Given the description of an element on the screen output the (x, y) to click on. 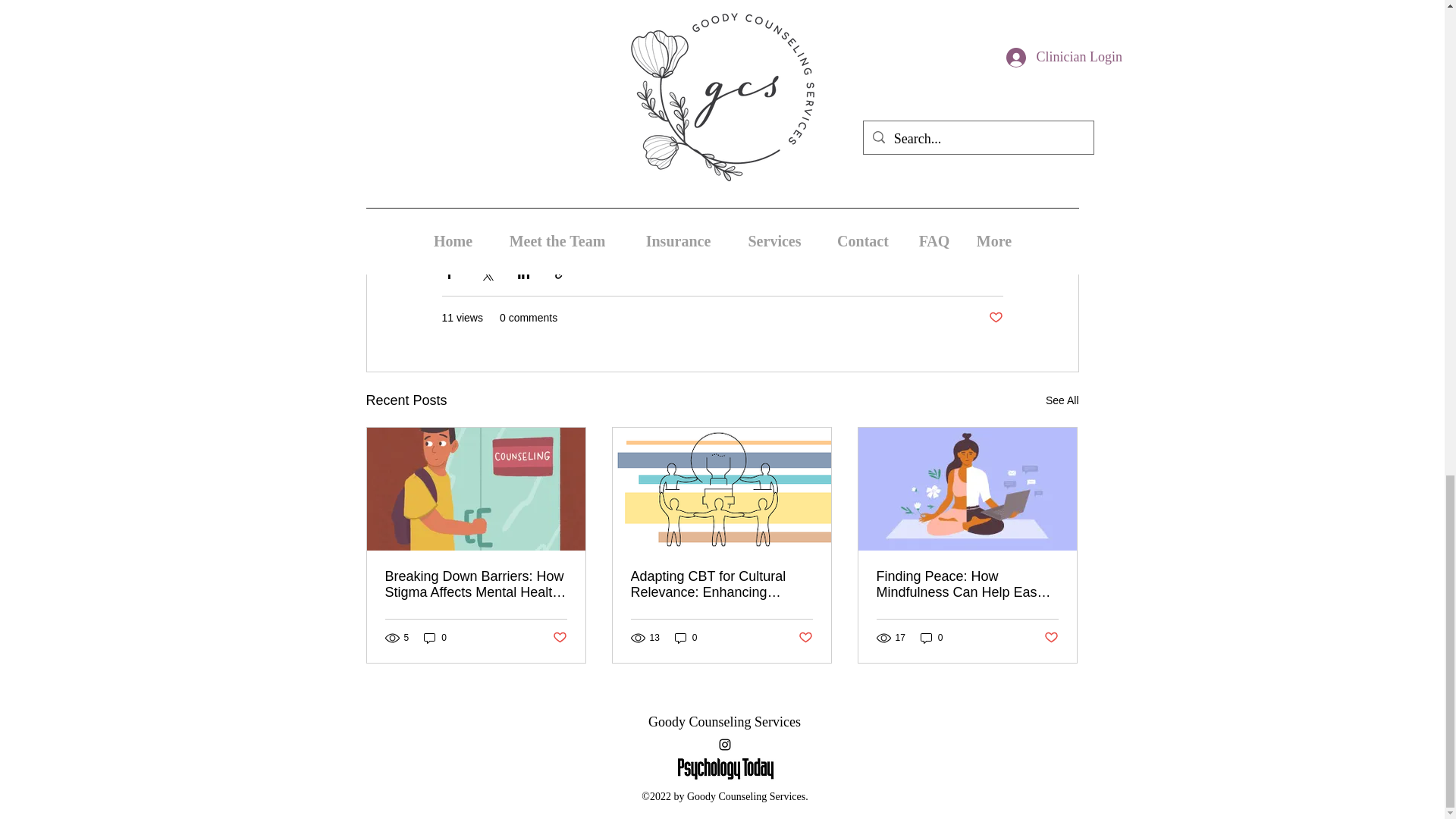
See All (1061, 400)
0 (435, 637)
Post not marked as liked (995, 317)
Post not marked as liked (558, 637)
